Given the description of an element on the screen output the (x, y) to click on. 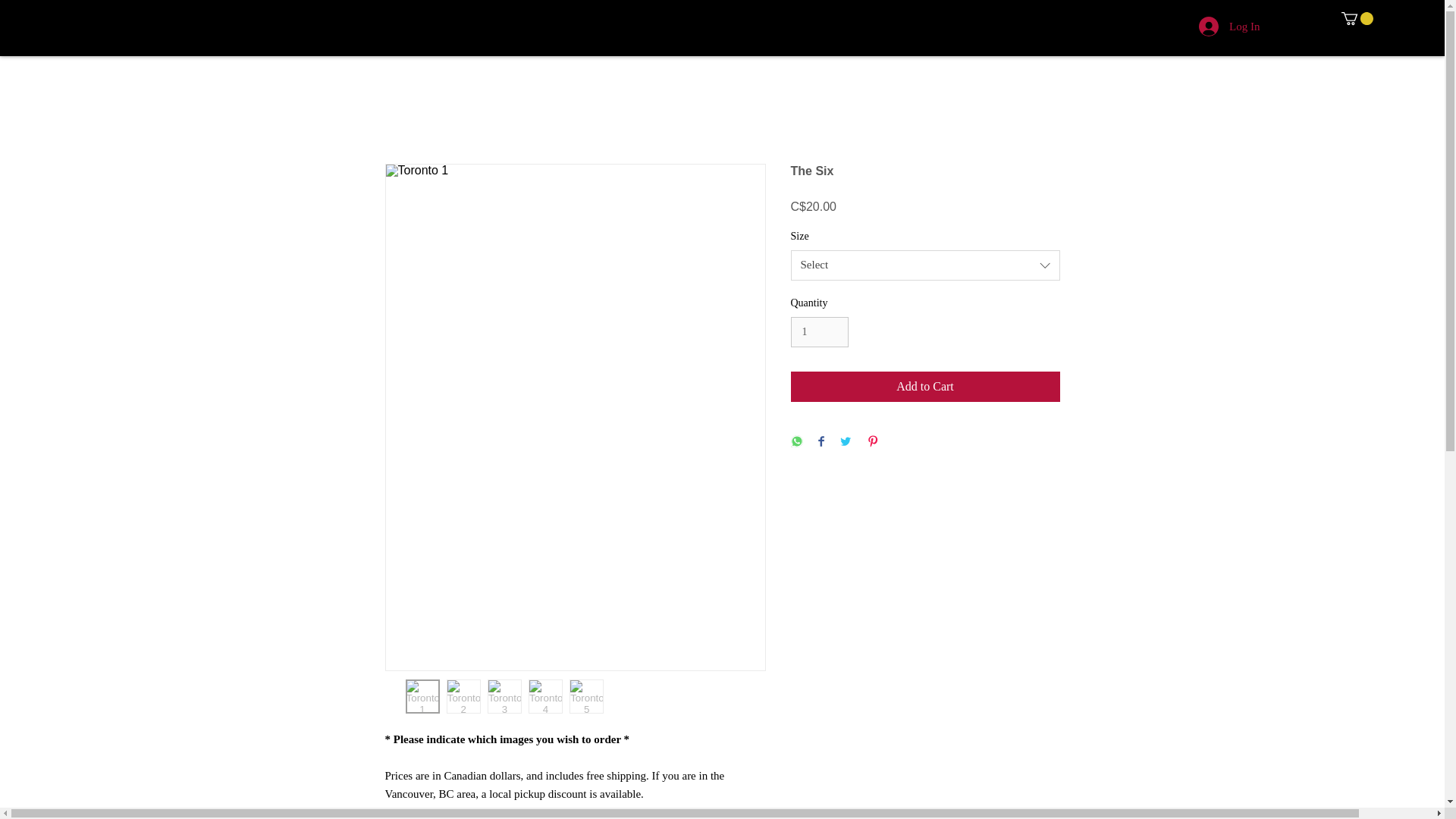
Add to Cart (924, 386)
Select (924, 265)
1 (818, 332)
Log In (1228, 26)
